Given the description of an element on the screen output the (x, y) to click on. 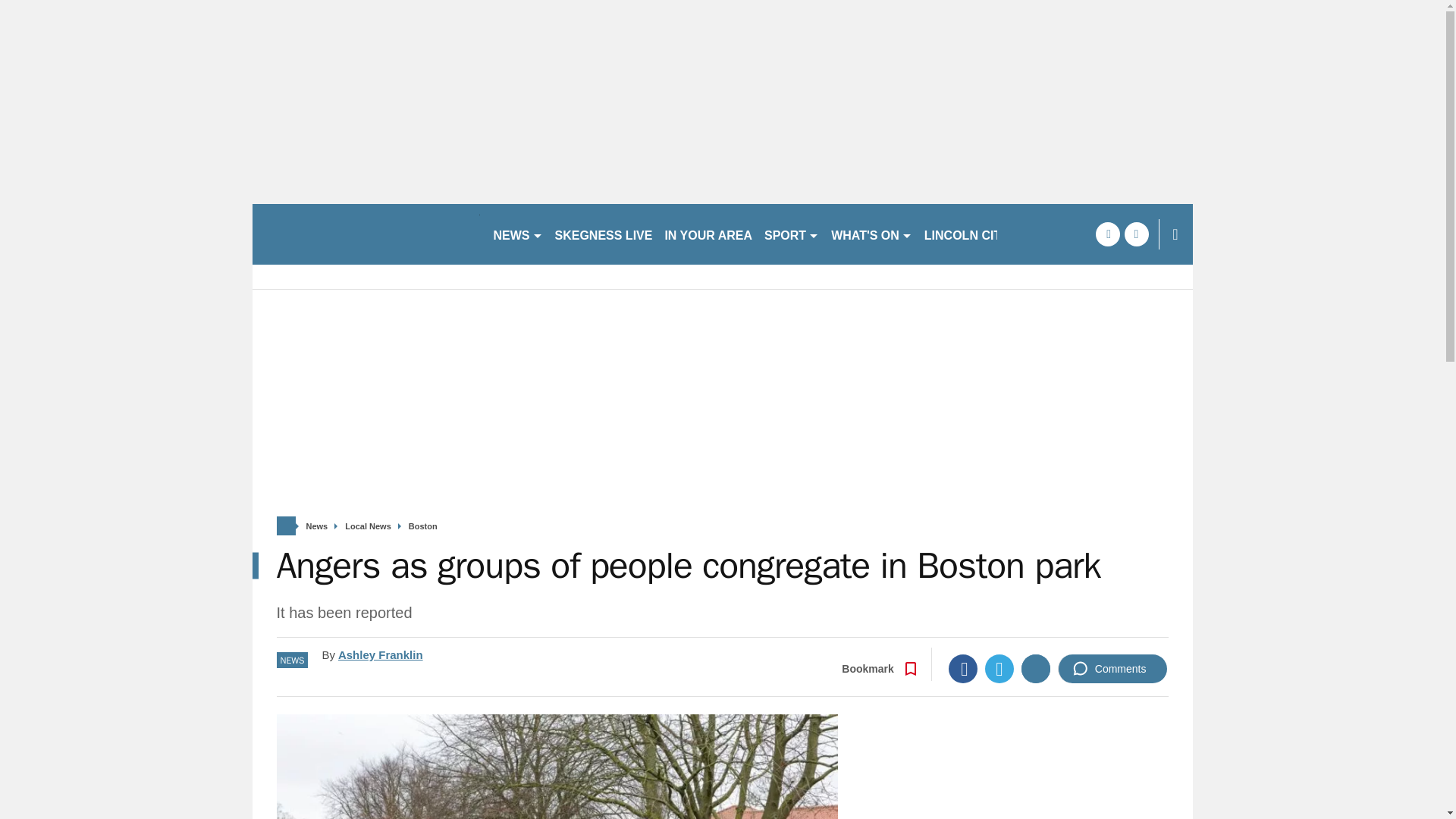
Comments (1112, 668)
Twitter (999, 668)
facebook (1106, 233)
SKEGNESS LIVE (603, 233)
IN YOUR AREA (708, 233)
SPORT (791, 233)
WHAT'S ON (871, 233)
Facebook (962, 668)
LINCOLN CITY FC (975, 233)
lincolnshirelive (365, 233)
